Given the description of an element on the screen output the (x, y) to click on. 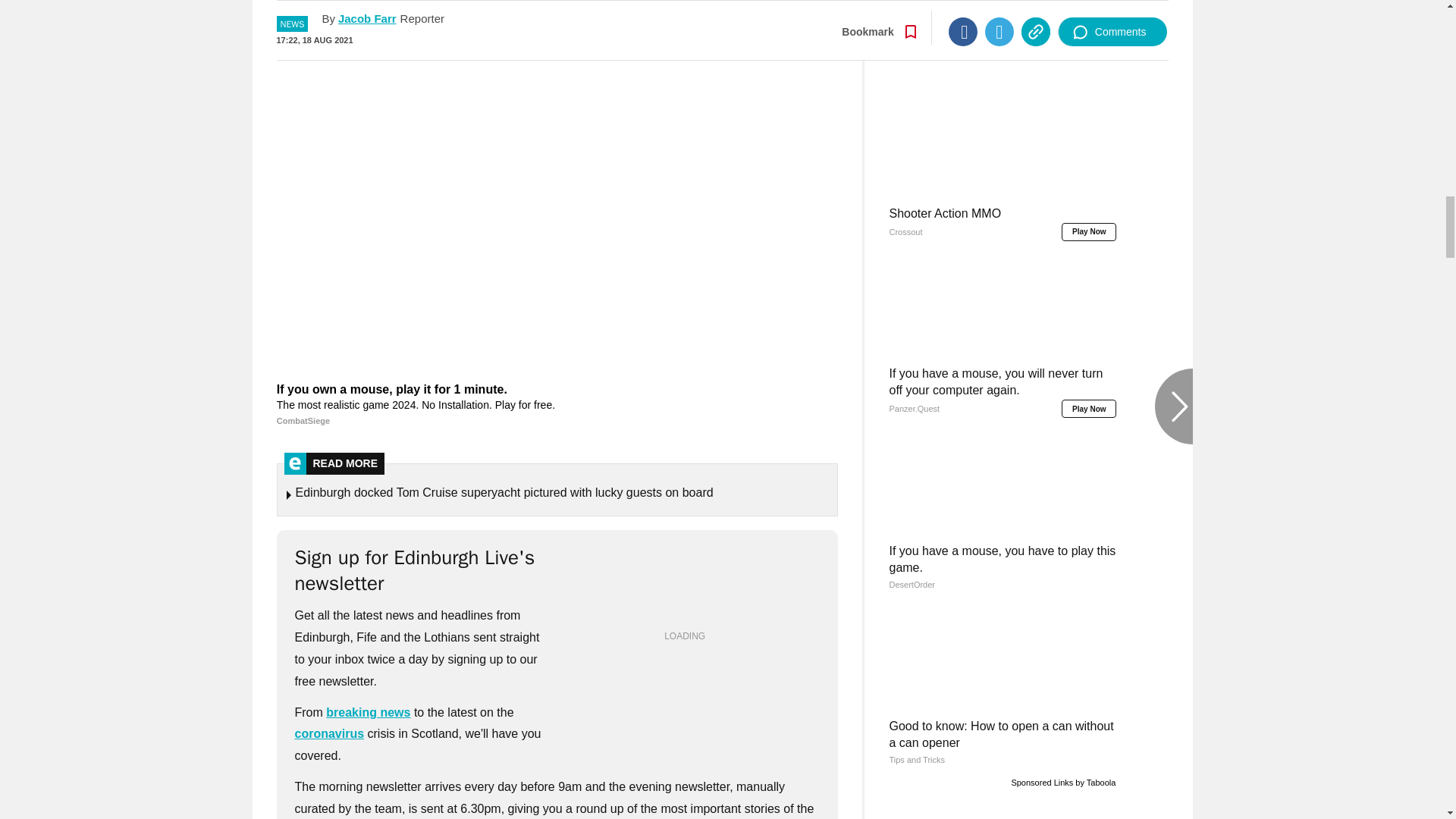
If you own a mouse, play it for 1 minute. (557, 405)
